Given the description of an element on the screen output the (x, y) to click on. 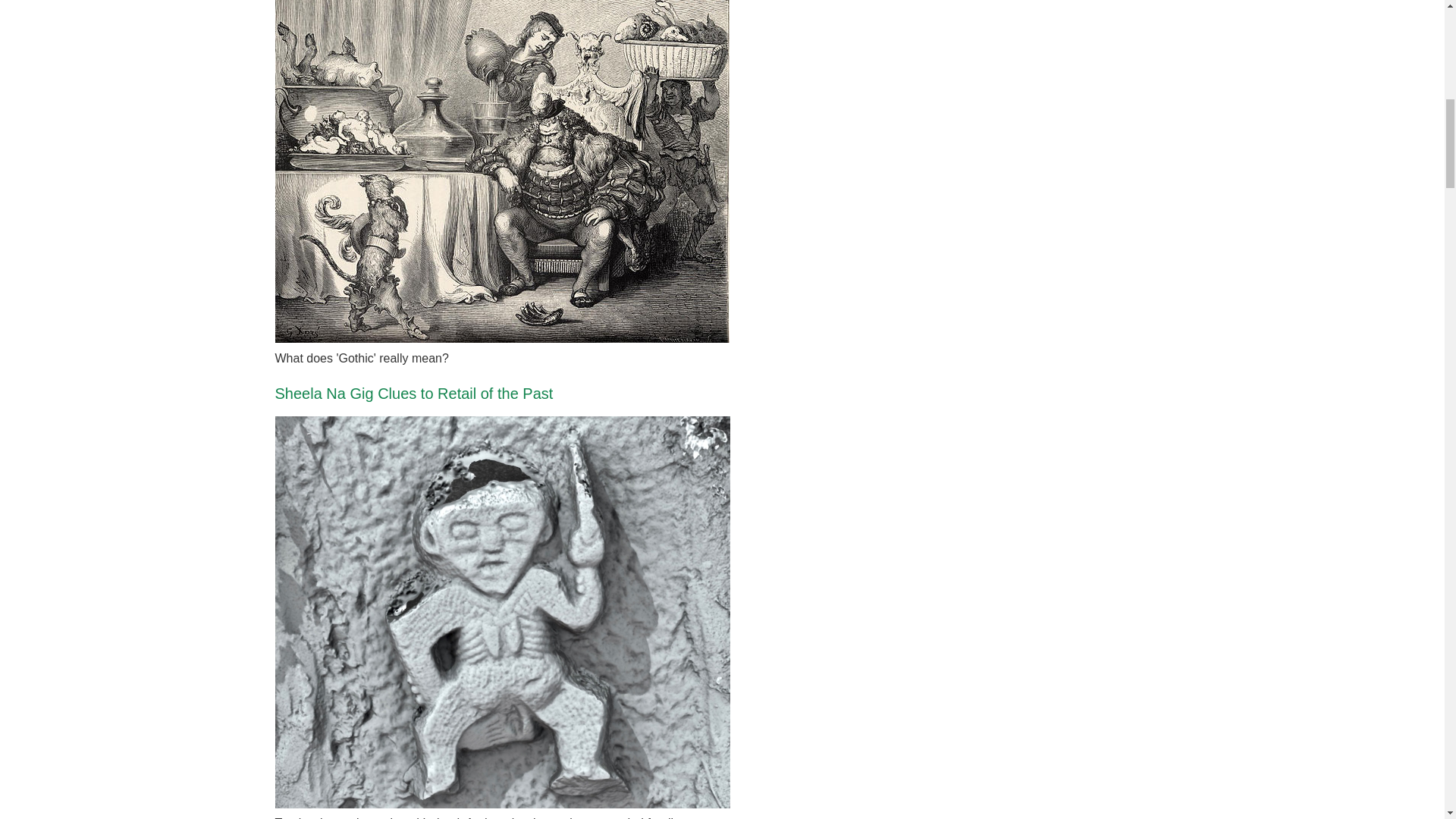
Sheela Na Gig Clues to Retail of the Past (414, 393)
